Given the description of an element on the screen output the (x, y) to click on. 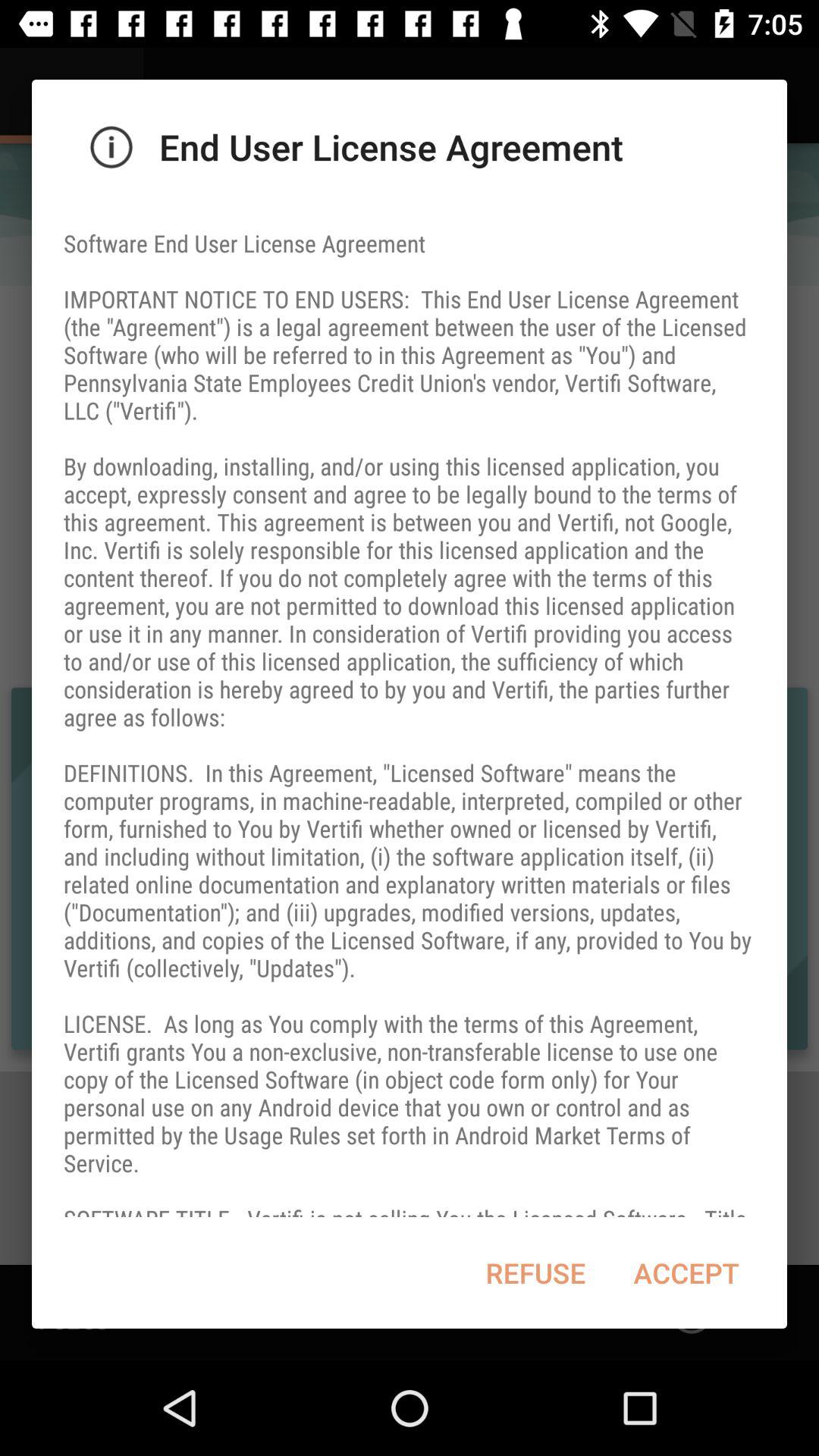
select accept at the bottom right corner (686, 1272)
